Given the description of an element on the screen output the (x, y) to click on. 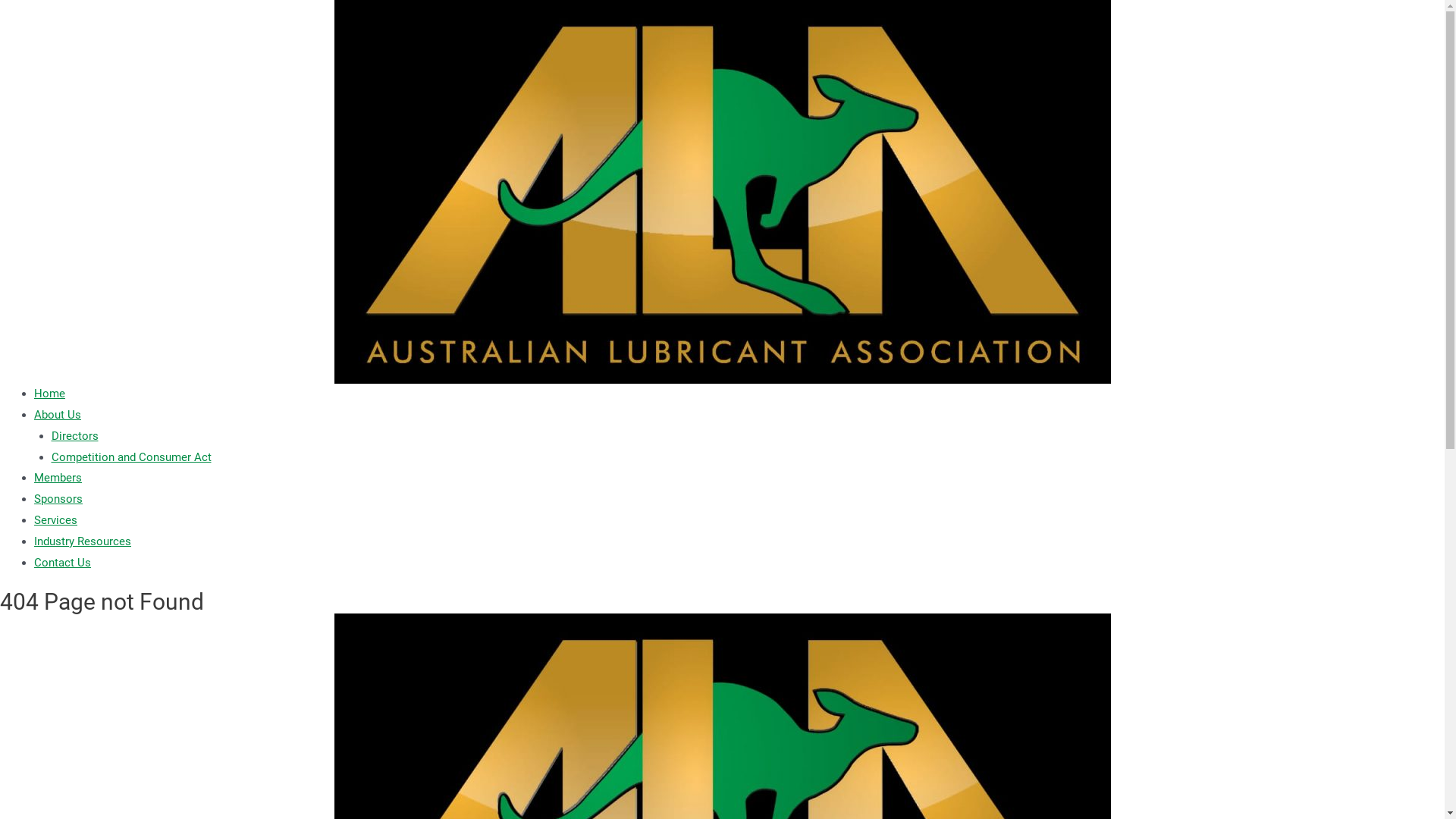
Competition and Consumer Act Element type: text (131, 457)
Sponsors Element type: text (58, 498)
Home Element type: text (49, 393)
Members Element type: text (57, 477)
Directors Element type: text (74, 435)
Services Element type: text (55, 520)
Contact Us Element type: text (62, 562)
About Us Element type: text (57, 414)
Industry Resources Element type: text (82, 541)
